Given the description of an element on the screen output the (x, y) to click on. 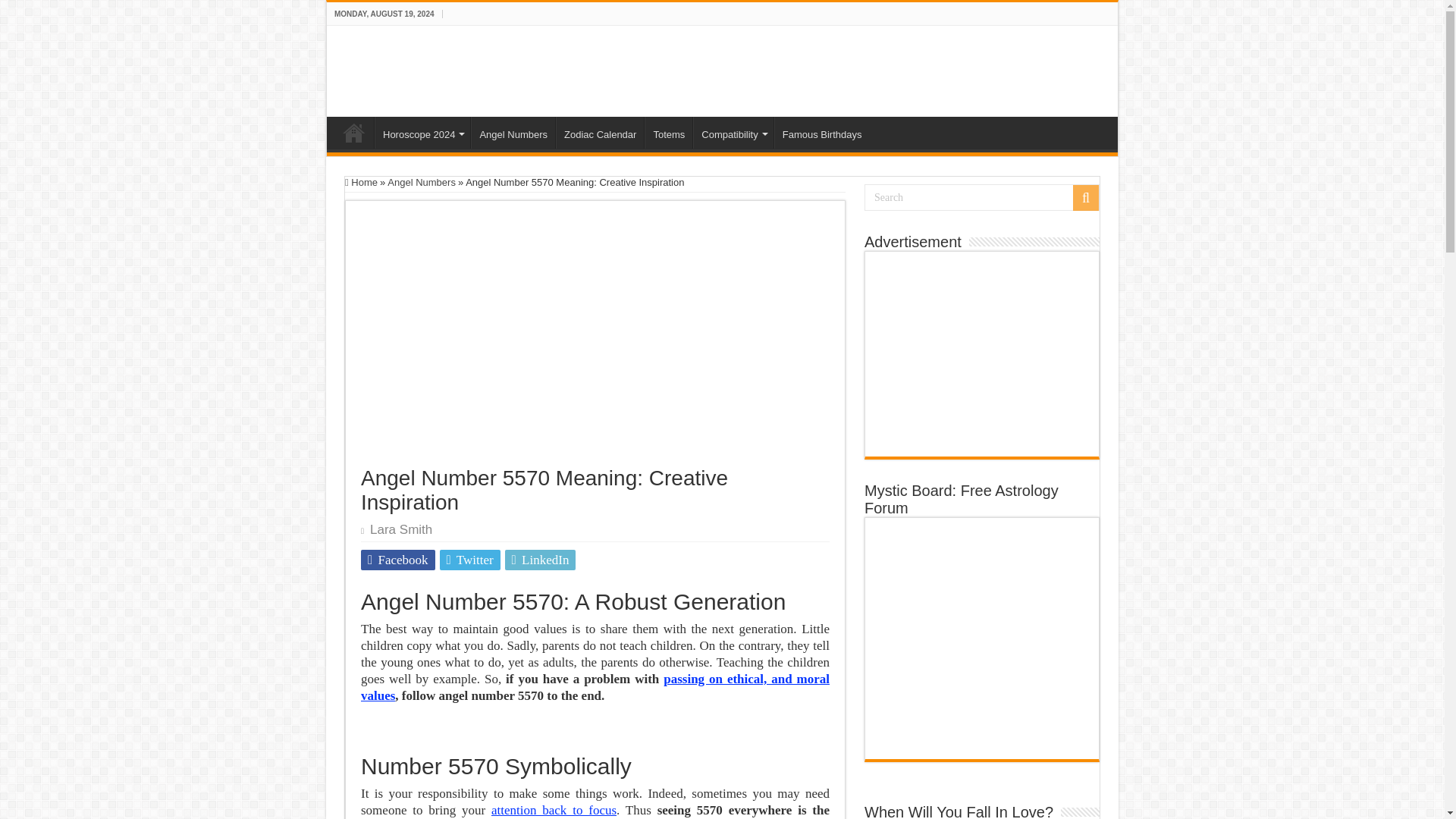
Home (354, 132)
What Are Animal Totems (669, 132)
Famous Birthdays (821, 132)
Zodiac Calendar (599, 132)
Horoscope 2024 (422, 132)
Advertisement (981, 353)
Lara Smith (400, 529)
Search (981, 197)
passing on ethical, and moral values (595, 686)
Home (361, 182)
